Given the description of an element on the screen output the (x, y) to click on. 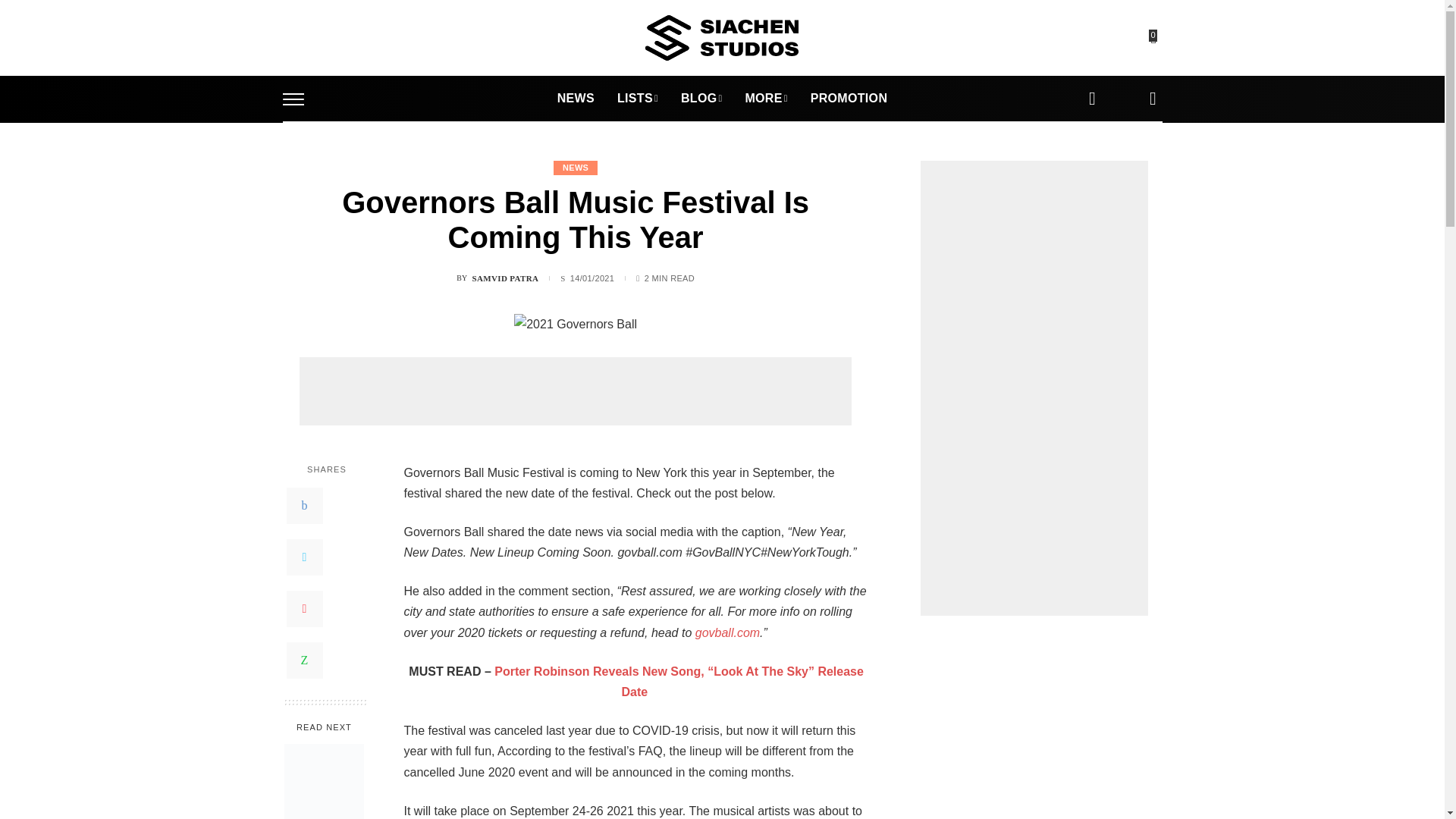
Siachen Studios (721, 37)
NEWS (575, 98)
LISTS (637, 98)
